Given the description of an element on the screen output the (x, y) to click on. 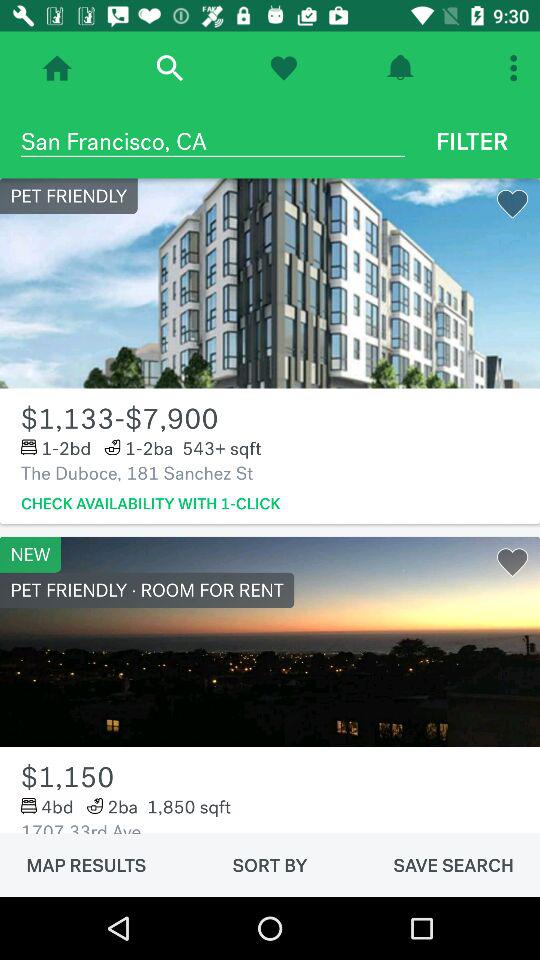
shows favorited items (283, 68)
